Given the description of an element on the screen output the (x, y) to click on. 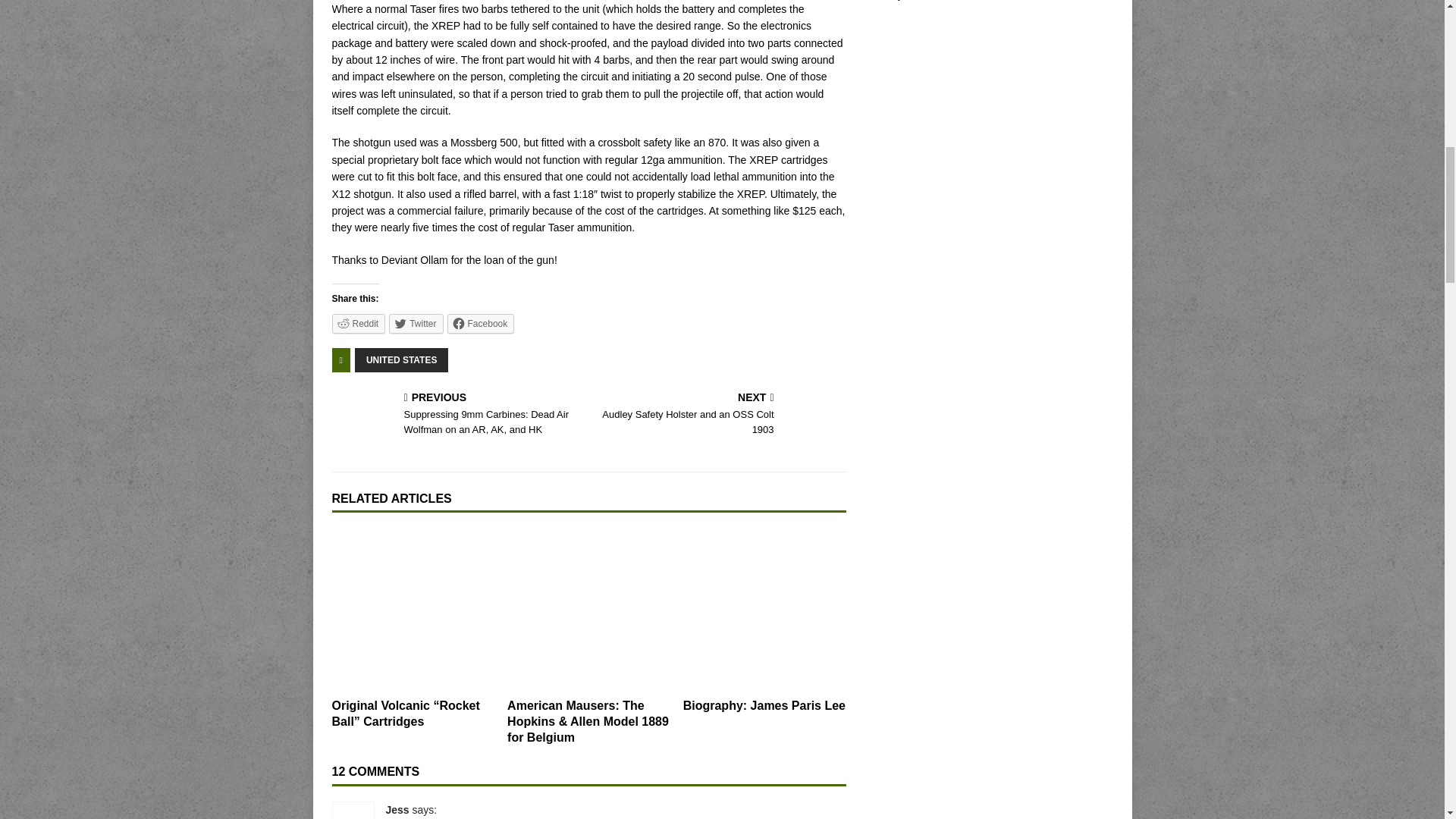
Click to share on Facebook (480, 323)
Click to share on Reddit (358, 323)
Click to share on Twitter (415, 323)
